Given the description of an element on the screen output the (x, y) to click on. 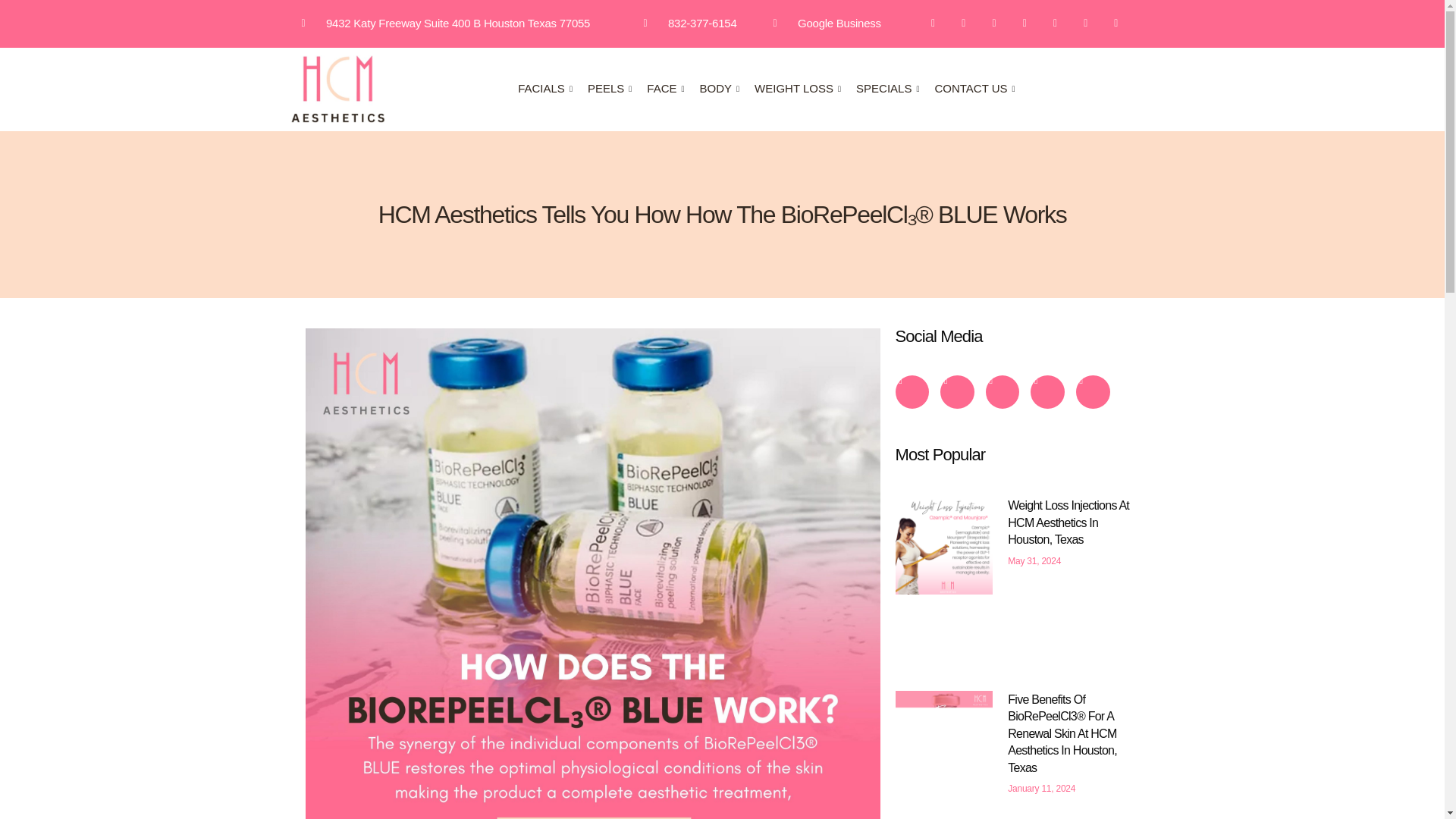
WEIGHT LOSS (805, 88)
FACIALS (553, 88)
832-377-6154 (689, 23)
Google Business (826, 23)
9432 Katy Freeway Suite 400 B Houston Texas 77055 (446, 23)
